Given the description of an element on the screen output the (x, y) to click on. 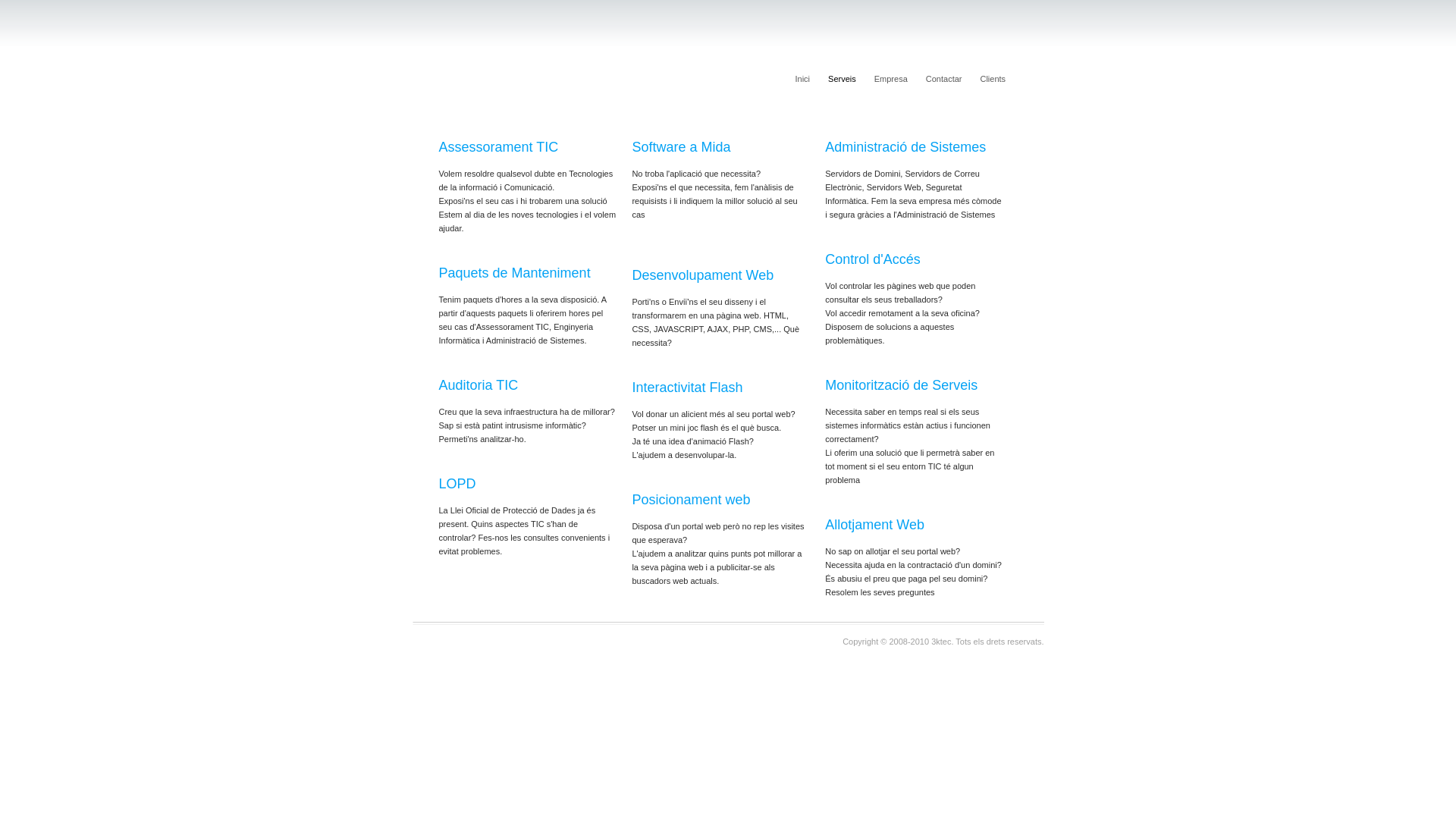
LOPD Element type: text (456, 483)
Assessorament TIC Element type: text (498, 146)
Auditoria TIC Element type: text (477, 384)
Empresa Element type: text (890, 78)
Paquets de Manteniment Element type: text (513, 272)
Serveis Element type: text (842, 78)
Desenvolupament Web Element type: text (702, 282)
Allotjament Web Element type: text (874, 524)
Contactar Element type: text (943, 78)
Interactivitat Flash Element type: text (686, 387)
Posicionament web Element type: text (690, 499)
Clients Element type: text (992, 78)
Inici Element type: text (801, 78)
Software a Mida Element type: text (680, 146)
